Given the description of an element on the screen output the (x, y) to click on. 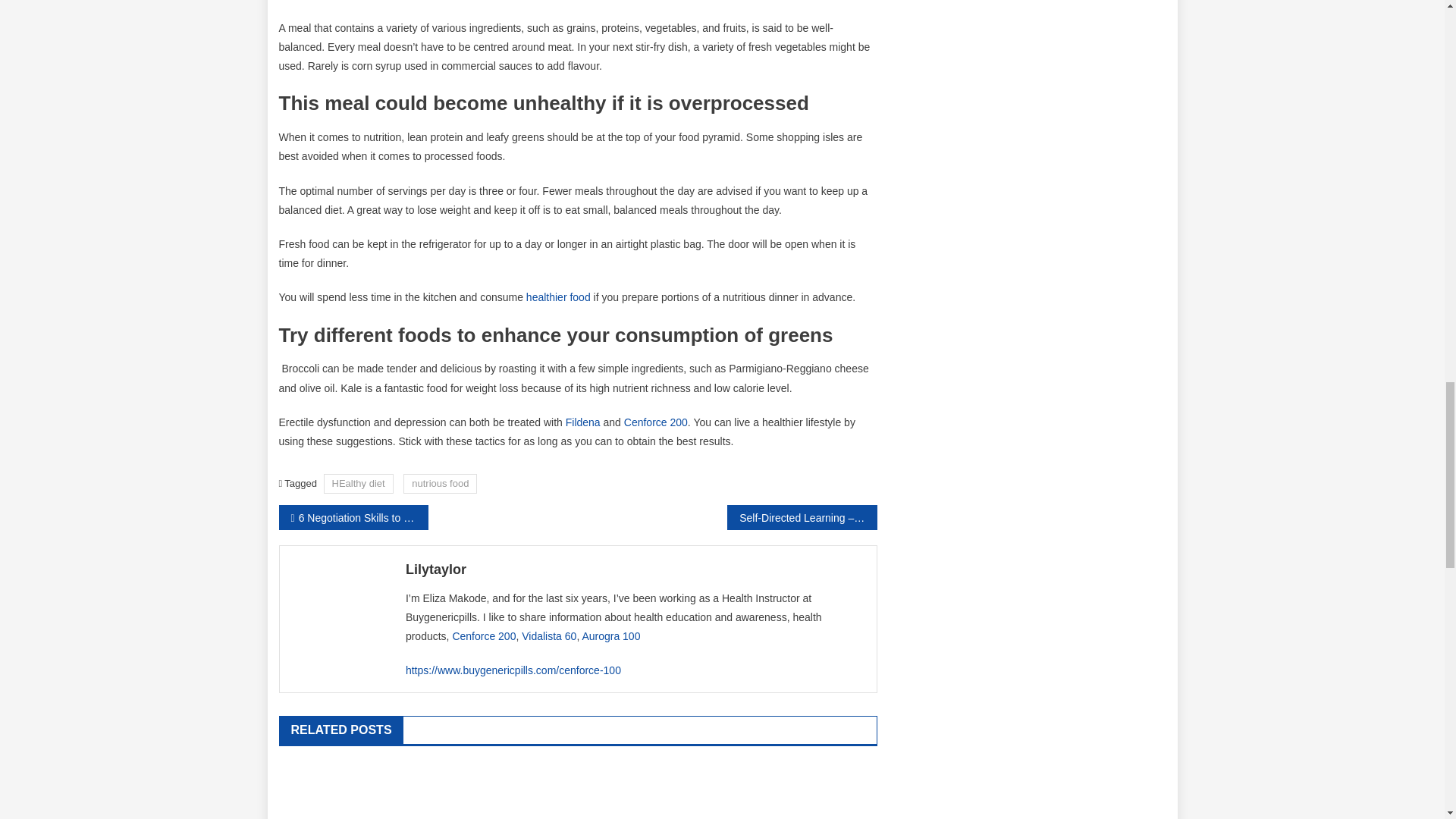
Vidalista 60 (548, 635)
Fildena (582, 422)
Aurogra 100 (610, 635)
Lilytaylor (635, 568)
healthier food (558, 297)
nutrious food (440, 483)
Cenforce 200 (483, 635)
6 Negotiation Skills to Deal with Difficult Clients (353, 517)
Cenforce 200 (655, 422)
HEalthy diet (358, 483)
